Given the description of an element on the screen output the (x, y) to click on. 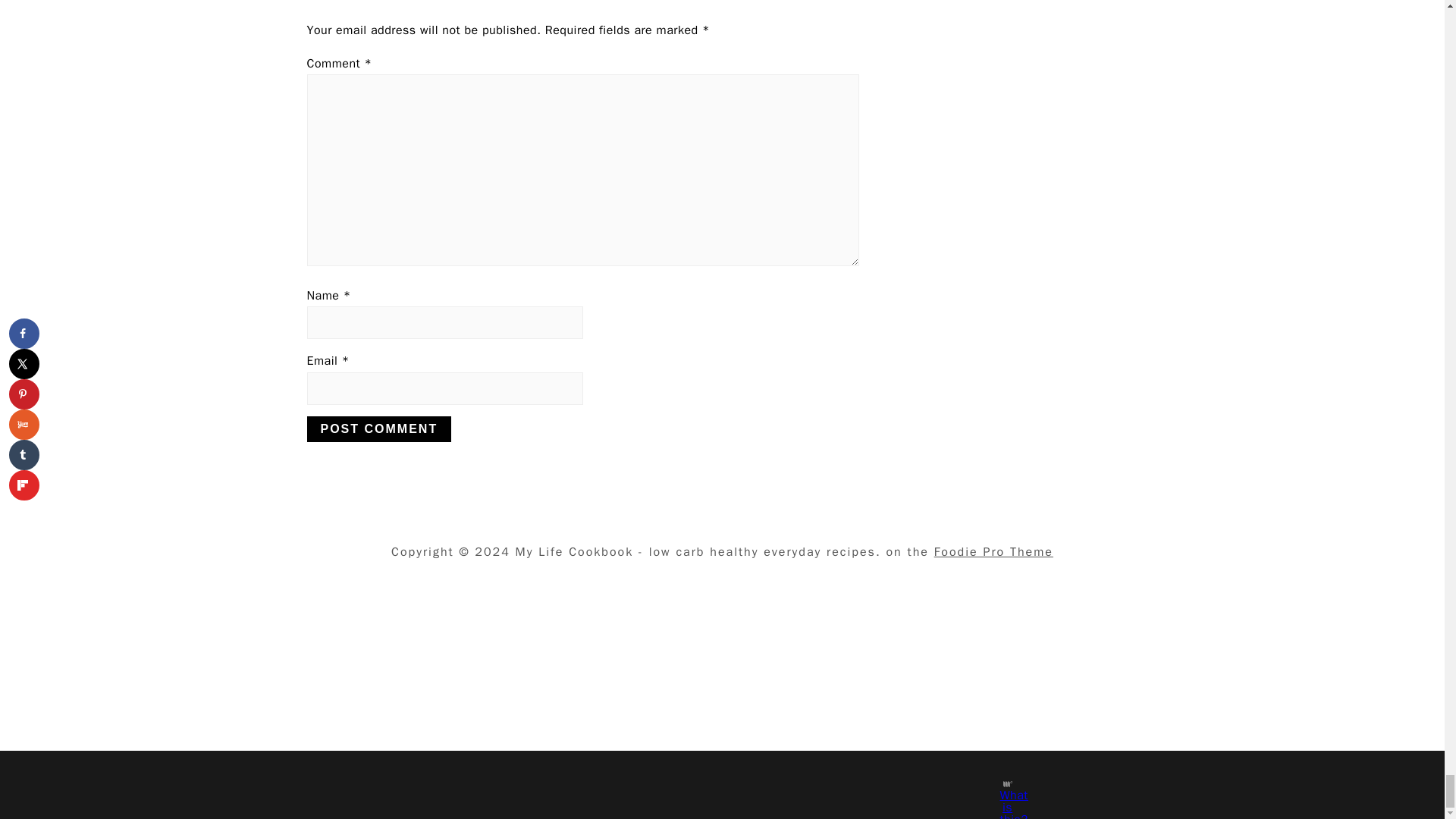
Post Comment (378, 429)
